Given the description of an element on the screen output the (x, y) to click on. 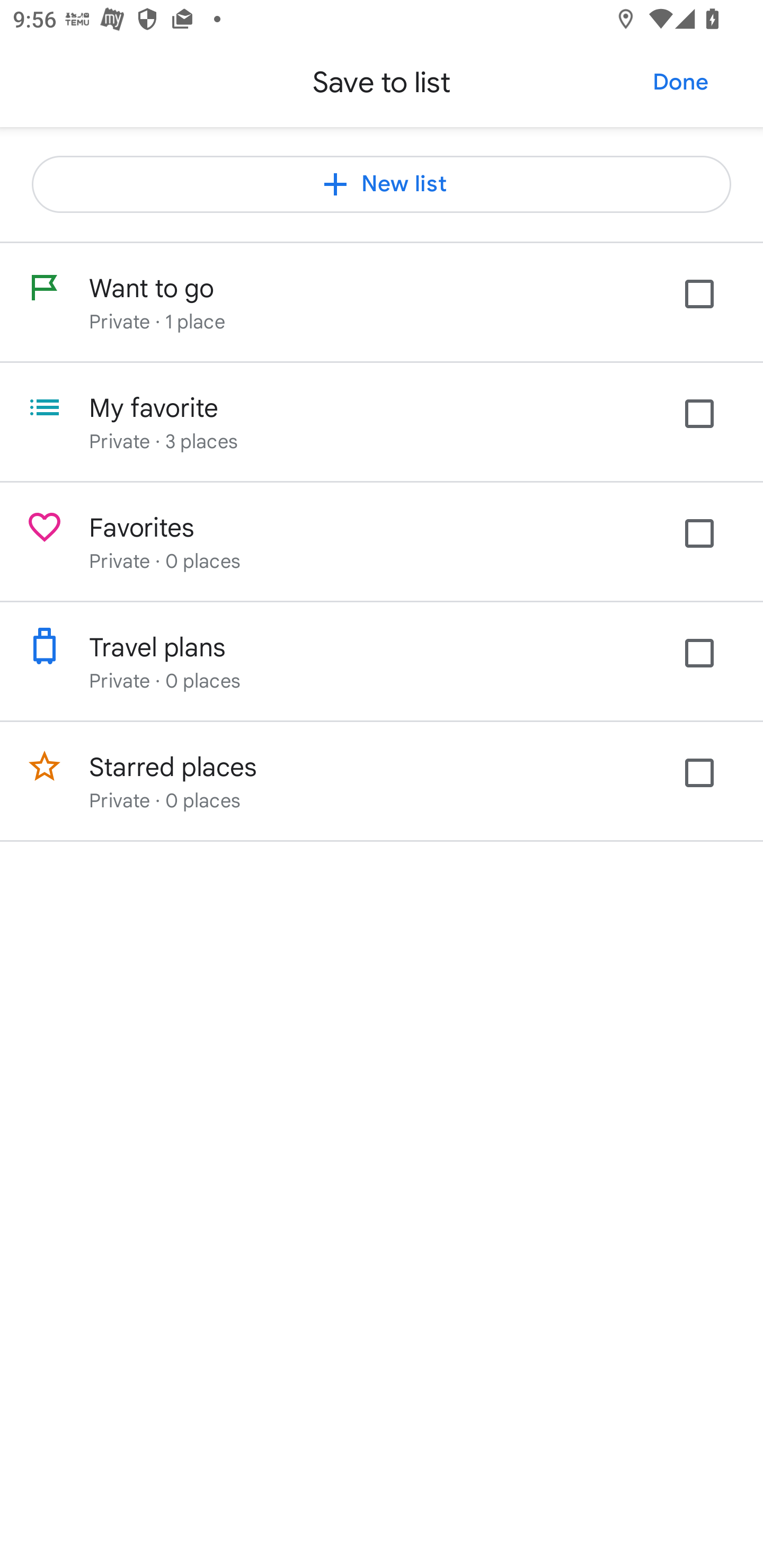
Done (680, 81)
New list (381, 183)
